Given the description of an element on the screen output the (x, y) to click on. 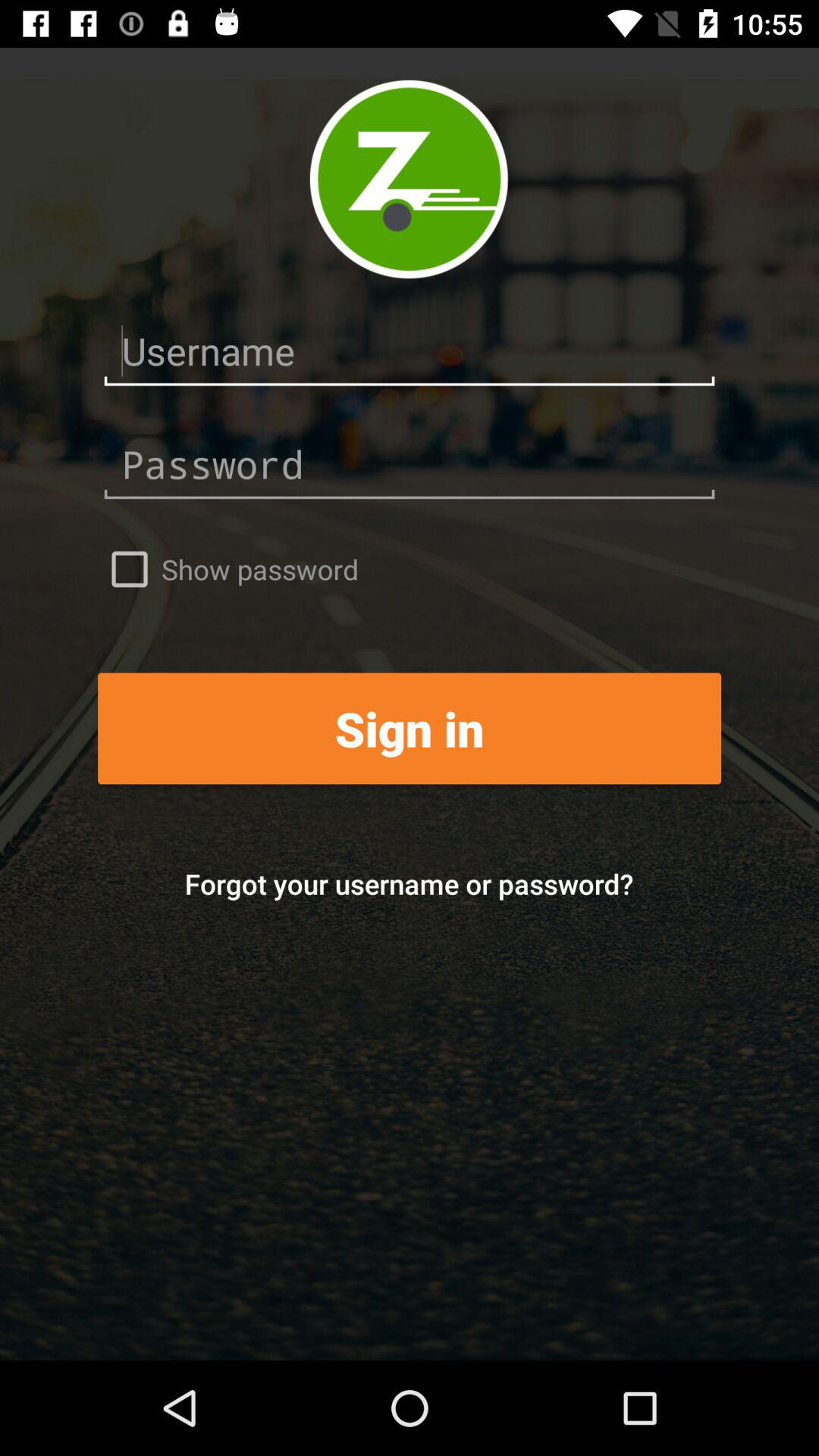
enter username (409, 351)
